Given the description of an element on the screen output the (x, y) to click on. 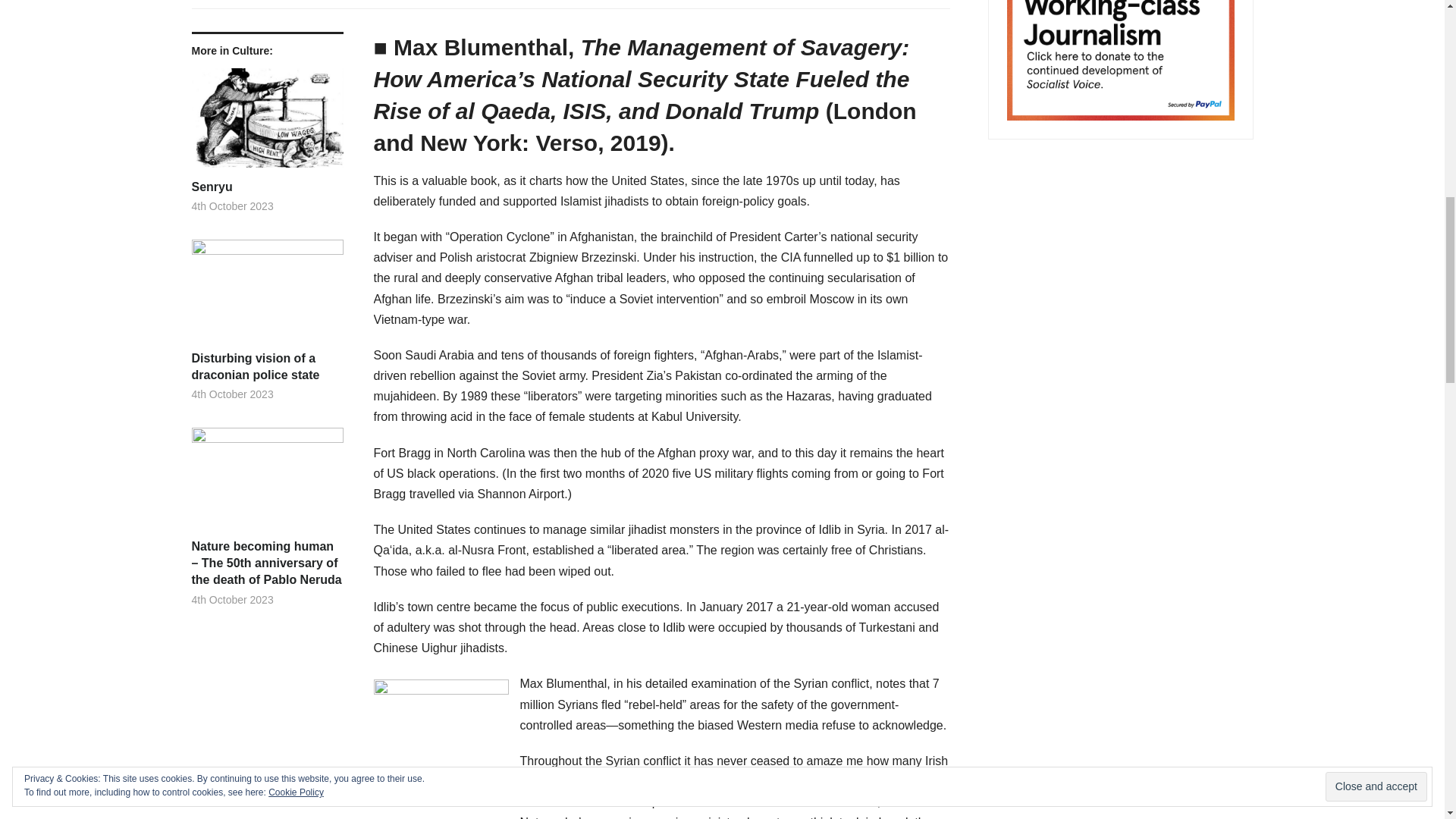
Permalink to Senryu (266, 123)
Permalink to Disturbing vision of a draconian police state (266, 294)
Permalink to Senryu (266, 187)
Permalink to Disturbing vision of a draconian police state (266, 367)
